Given the description of an element on the screen output the (x, y) to click on. 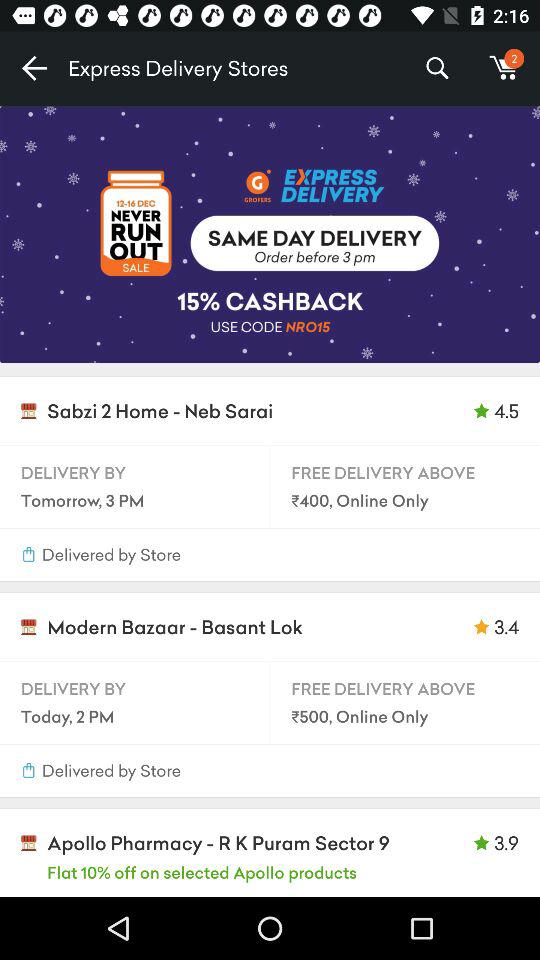
open icon to the right of express delivery stores item (436, 67)
